Given the description of an element on the screen output the (x, y) to click on. 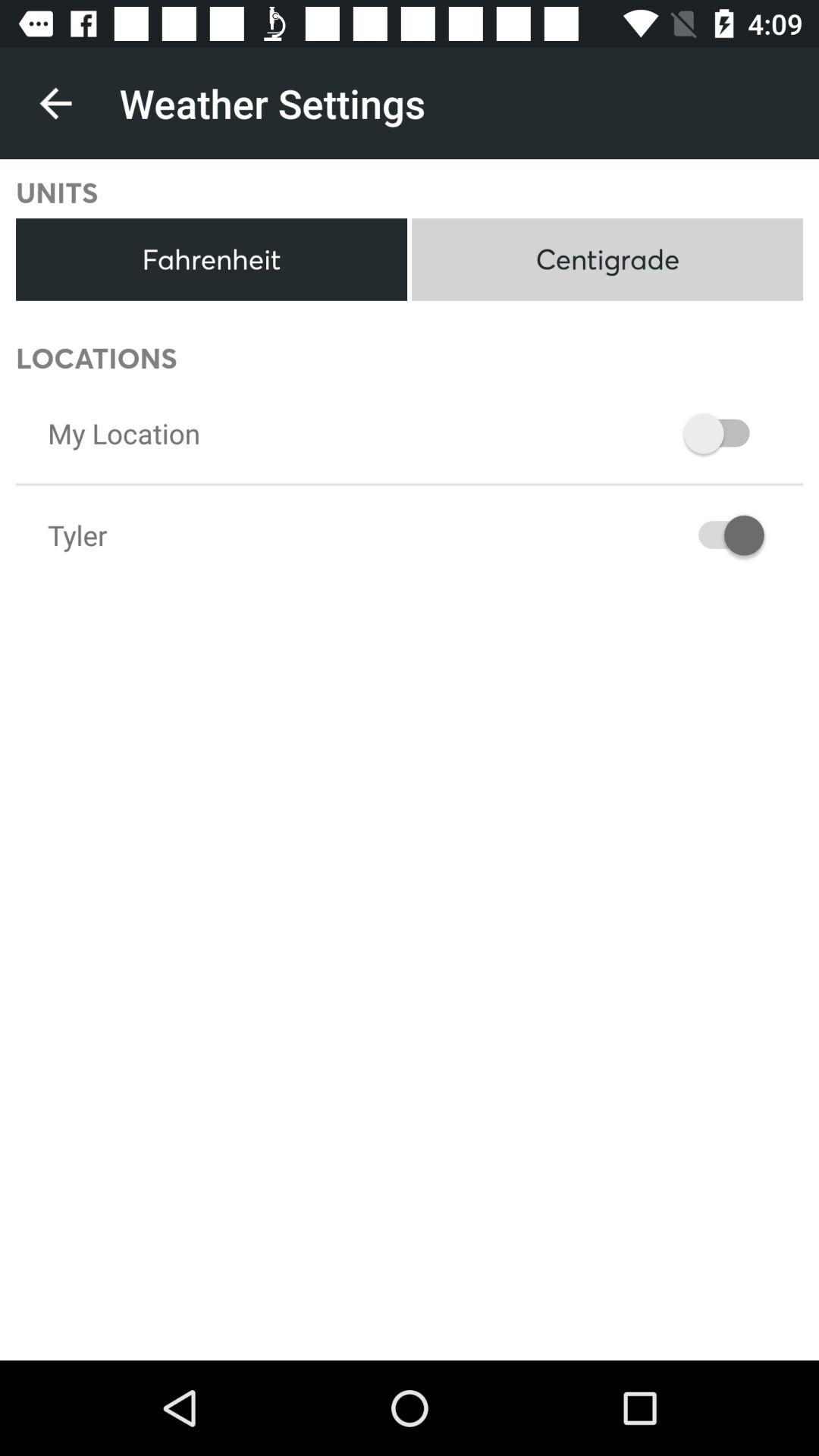
press the icon next to the centigrade icon (211, 259)
